Given the description of an element on the screen output the (x, y) to click on. 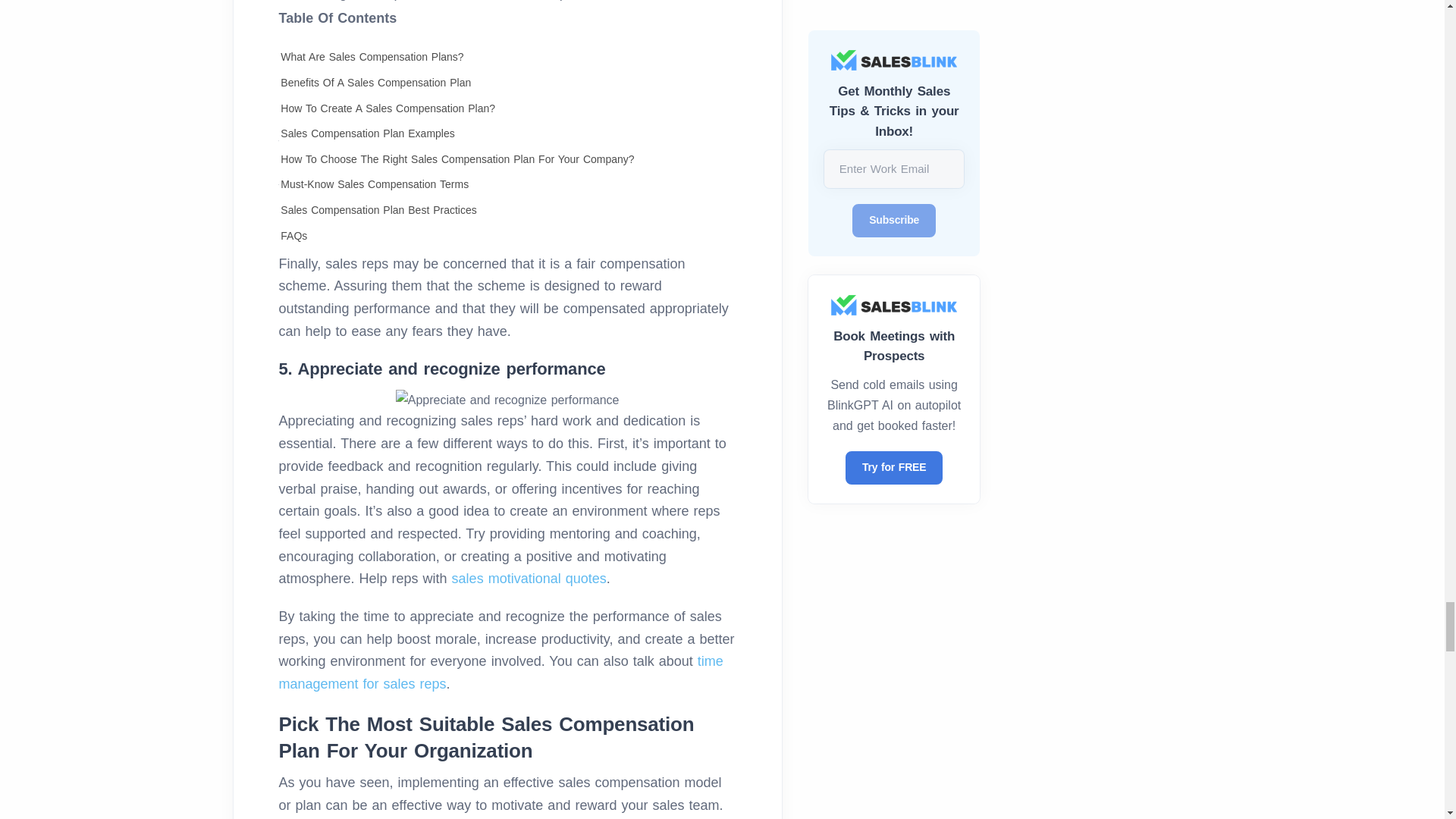
Appreciate and recognize performance (508, 399)
